Given the description of an element on the screen output the (x, y) to click on. 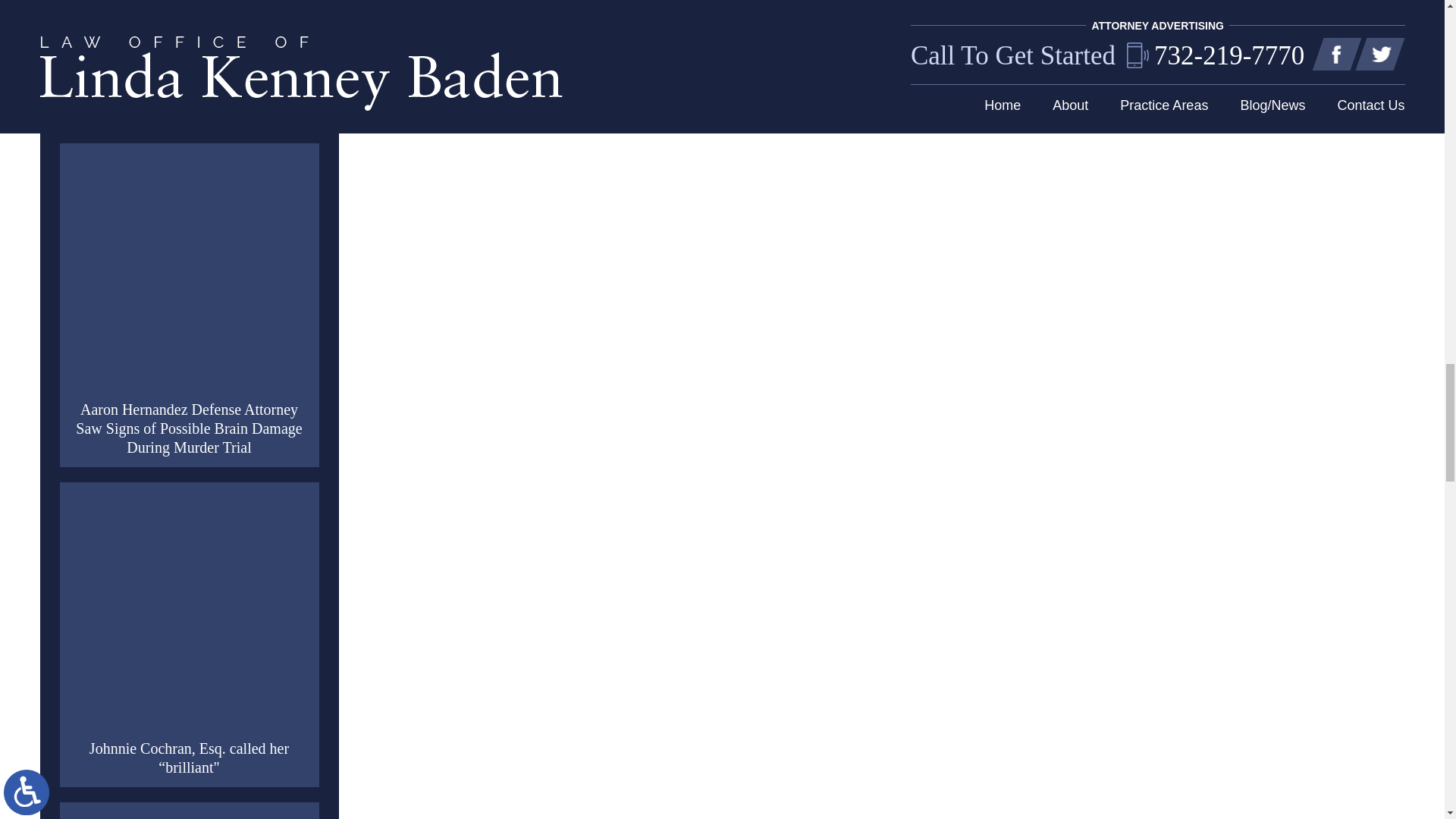
In the News (188, 612)
In the News (188, 27)
In the News (188, 273)
In the News (188, 815)
